Given the description of an element on the screen output the (x, y) to click on. 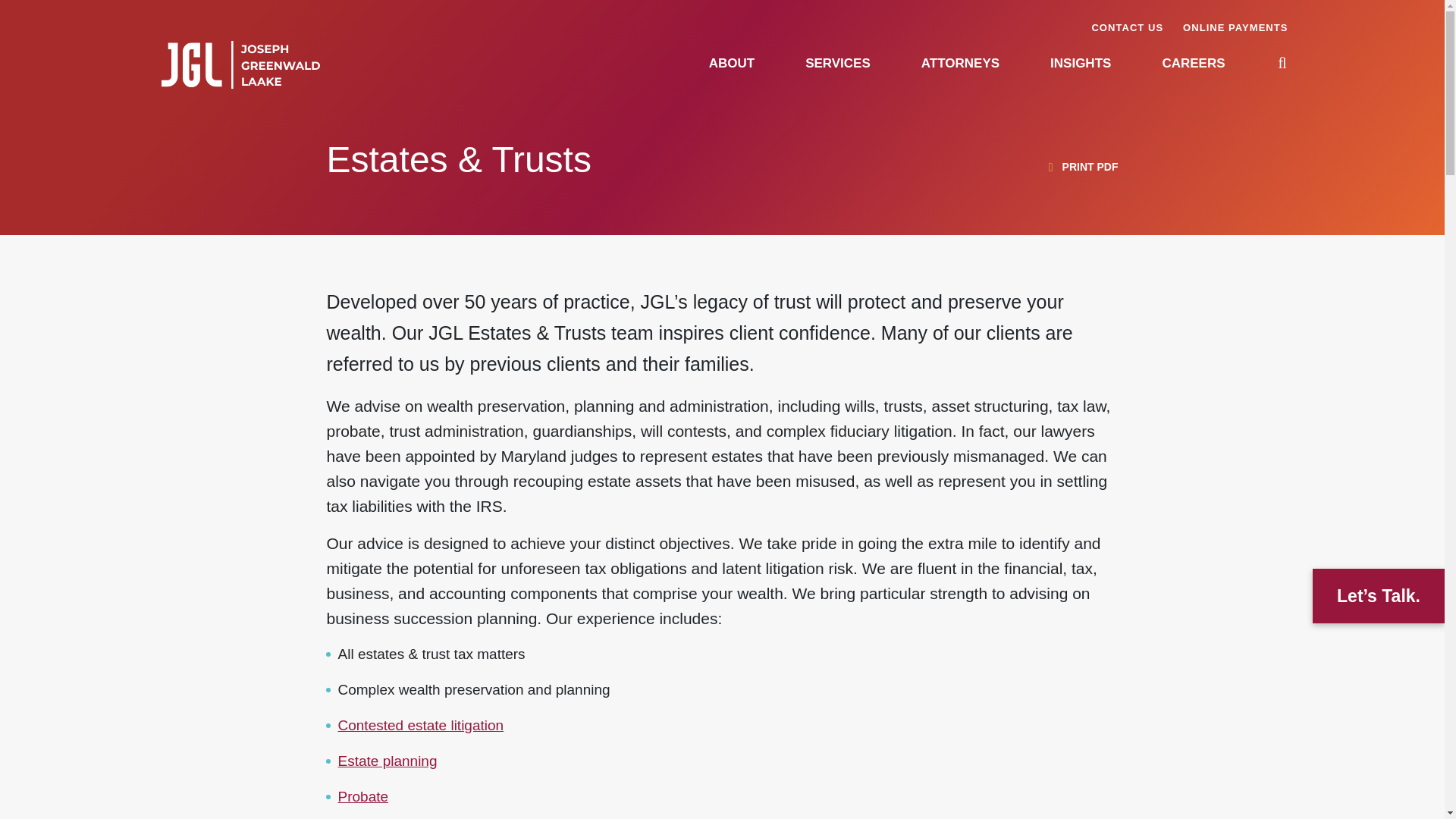
INSIGHTS (1079, 63)
ABOUT (731, 63)
ATTORNEYS (959, 63)
ONLINE PAYMENTS (1234, 27)
Probate (362, 796)
Contested estate litigation (420, 725)
CONTACT US (1126, 27)
SERVICES (837, 63)
PRINT PDF (1080, 167)
Estate planning (387, 760)
CAREERS (1192, 63)
